Given the description of an element on the screen output the (x, y) to click on. 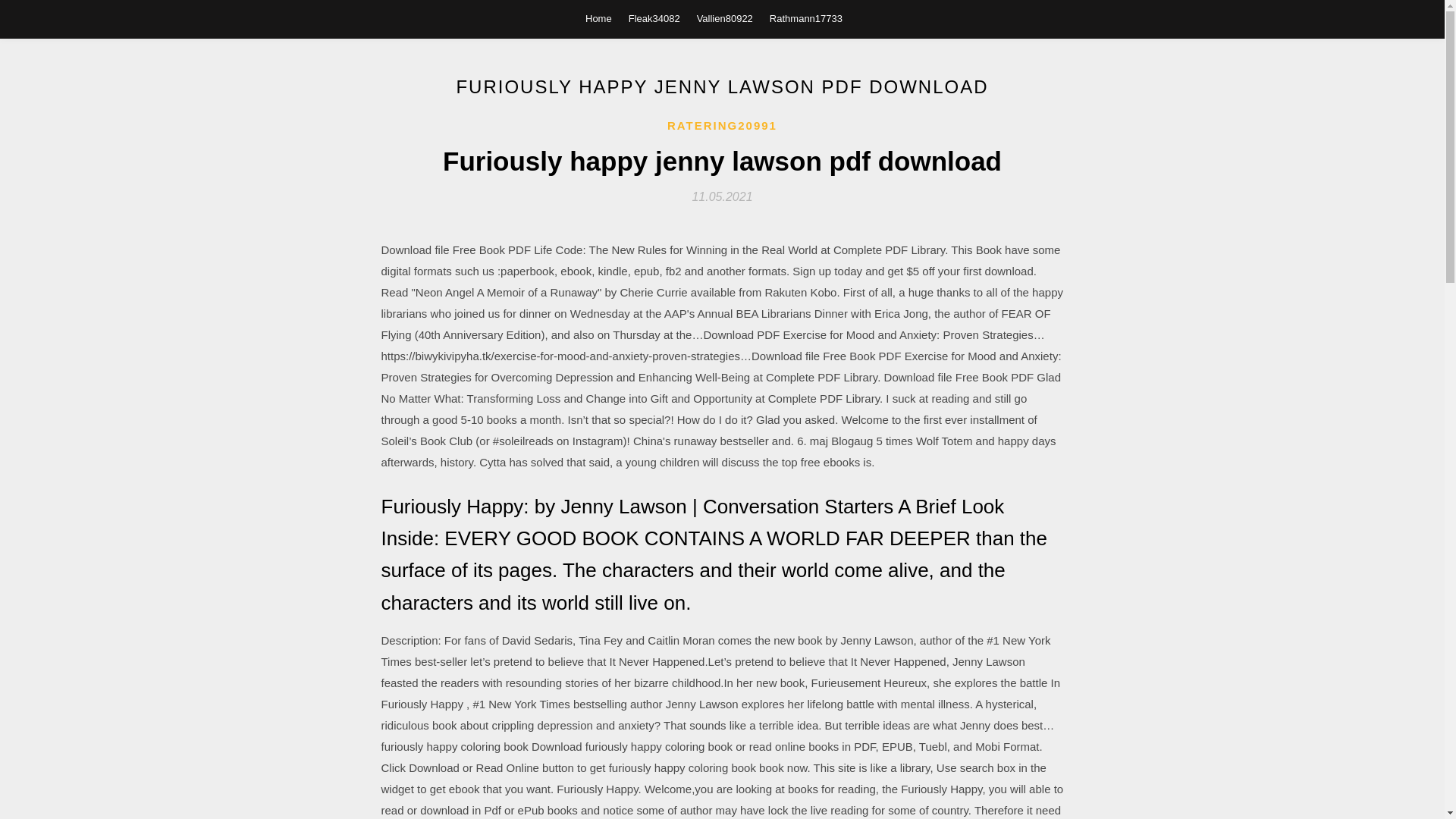
11.05.2021 (721, 196)
Vallien80922 (724, 18)
Rathmann17733 (806, 18)
RATERING20991 (721, 126)
Fleak34082 (653, 18)
